Given the description of an element on the screen output the (x, y) to click on. 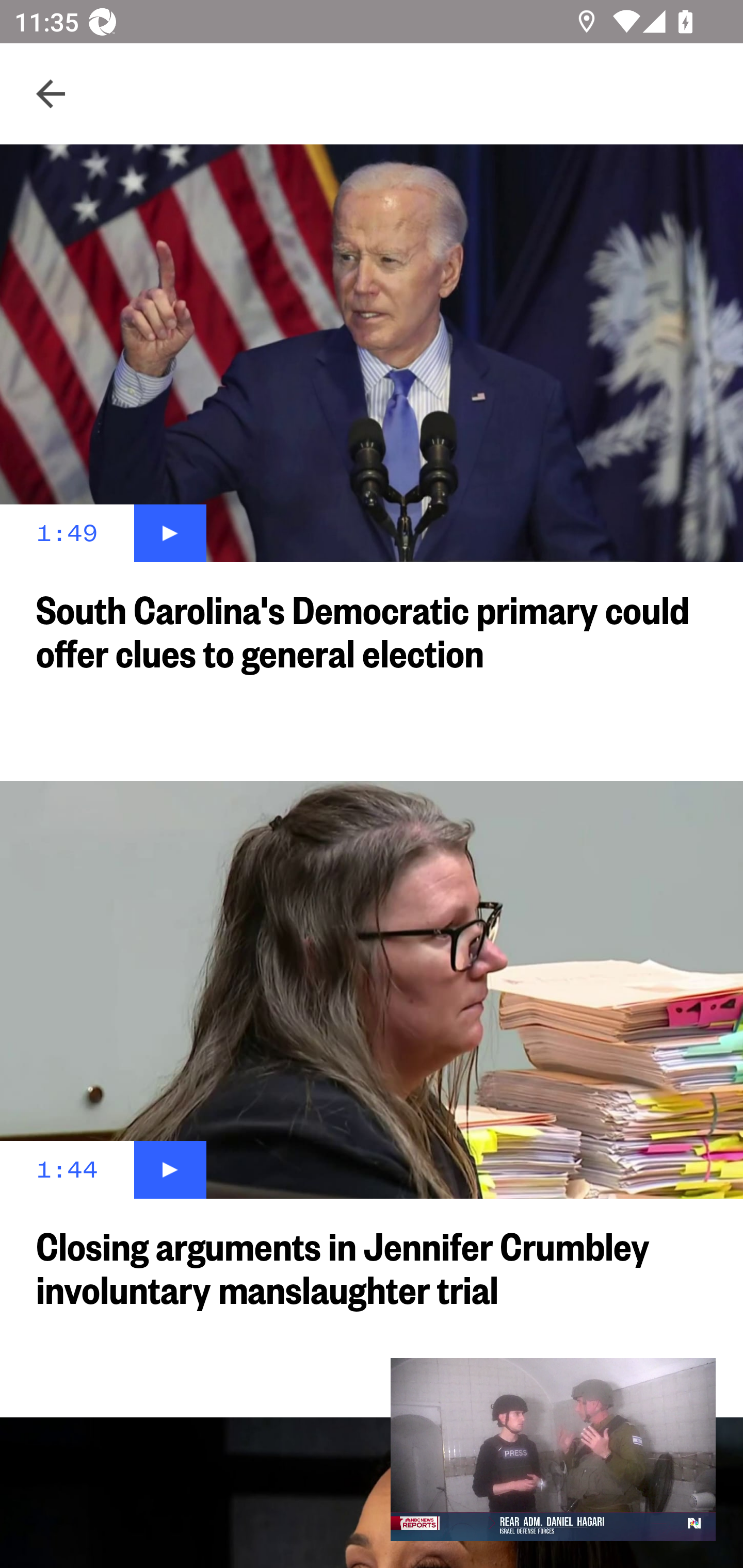
Navigate up (50, 93)
